Given the description of an element on the screen output the (x, y) to click on. 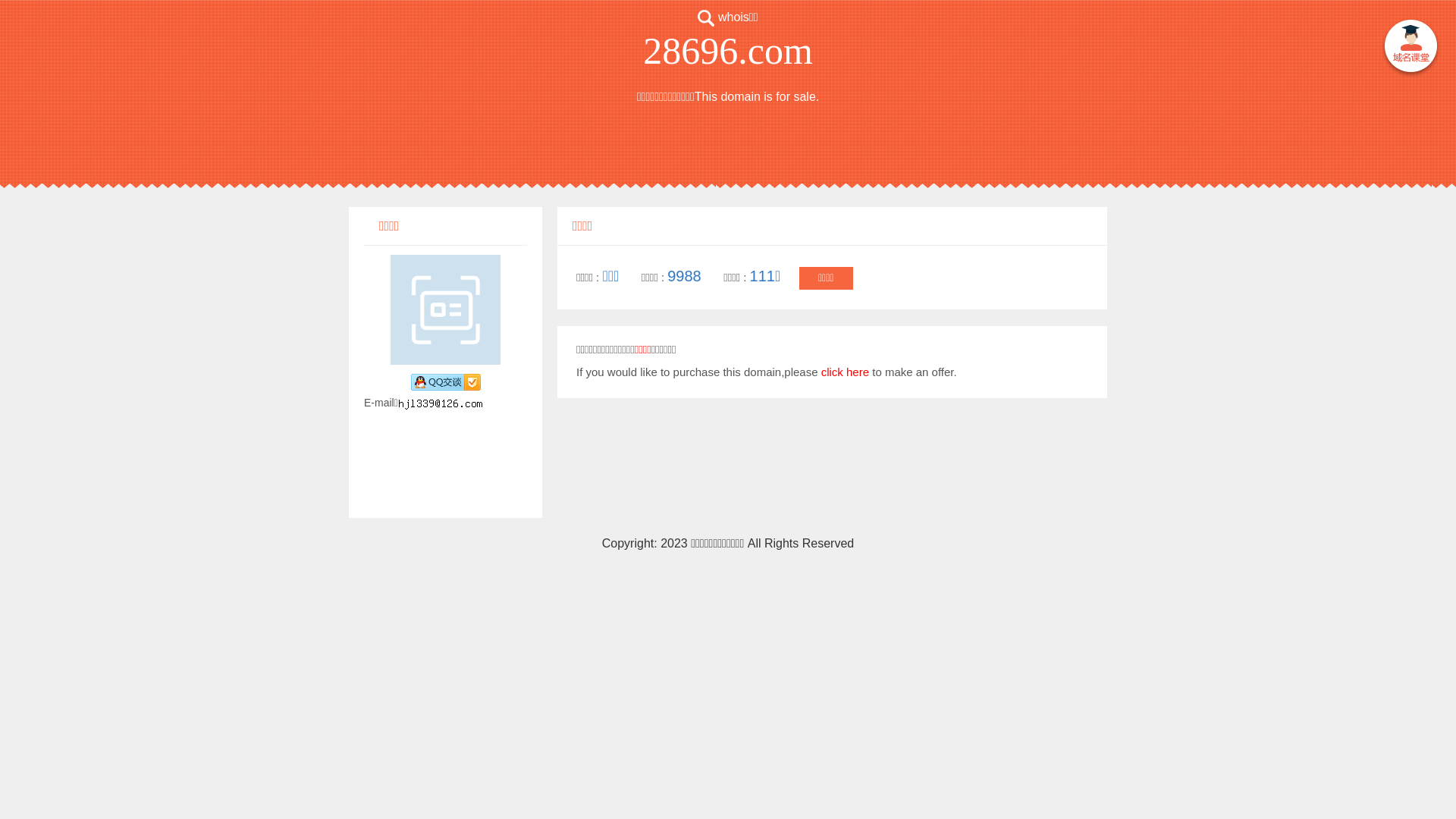
  Element type: text (1410, 48)
click here Element type: text (845, 371)
